Given the description of an element on the screen output the (x, y) to click on. 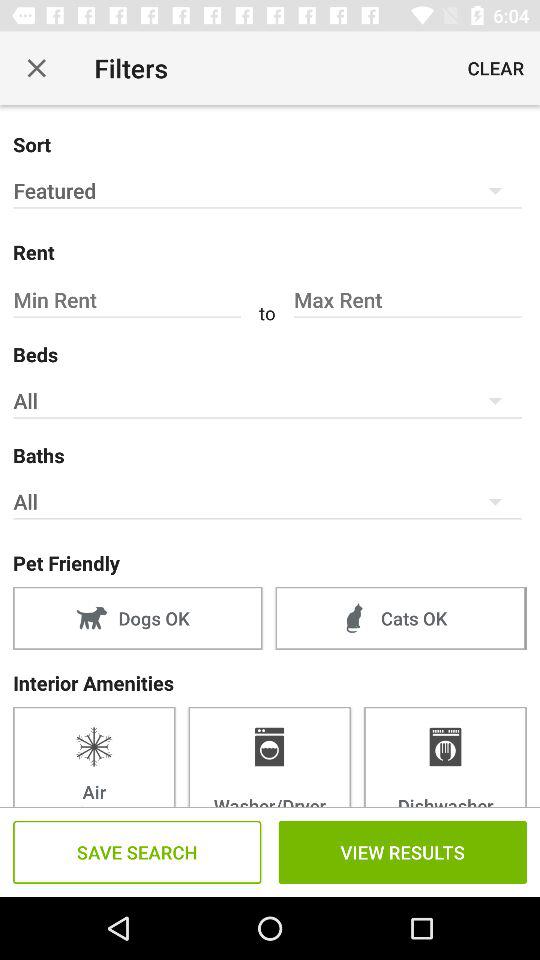
filter the maximum amount of rent (407, 300)
